Given the description of an element on the screen output the (x, y) to click on. 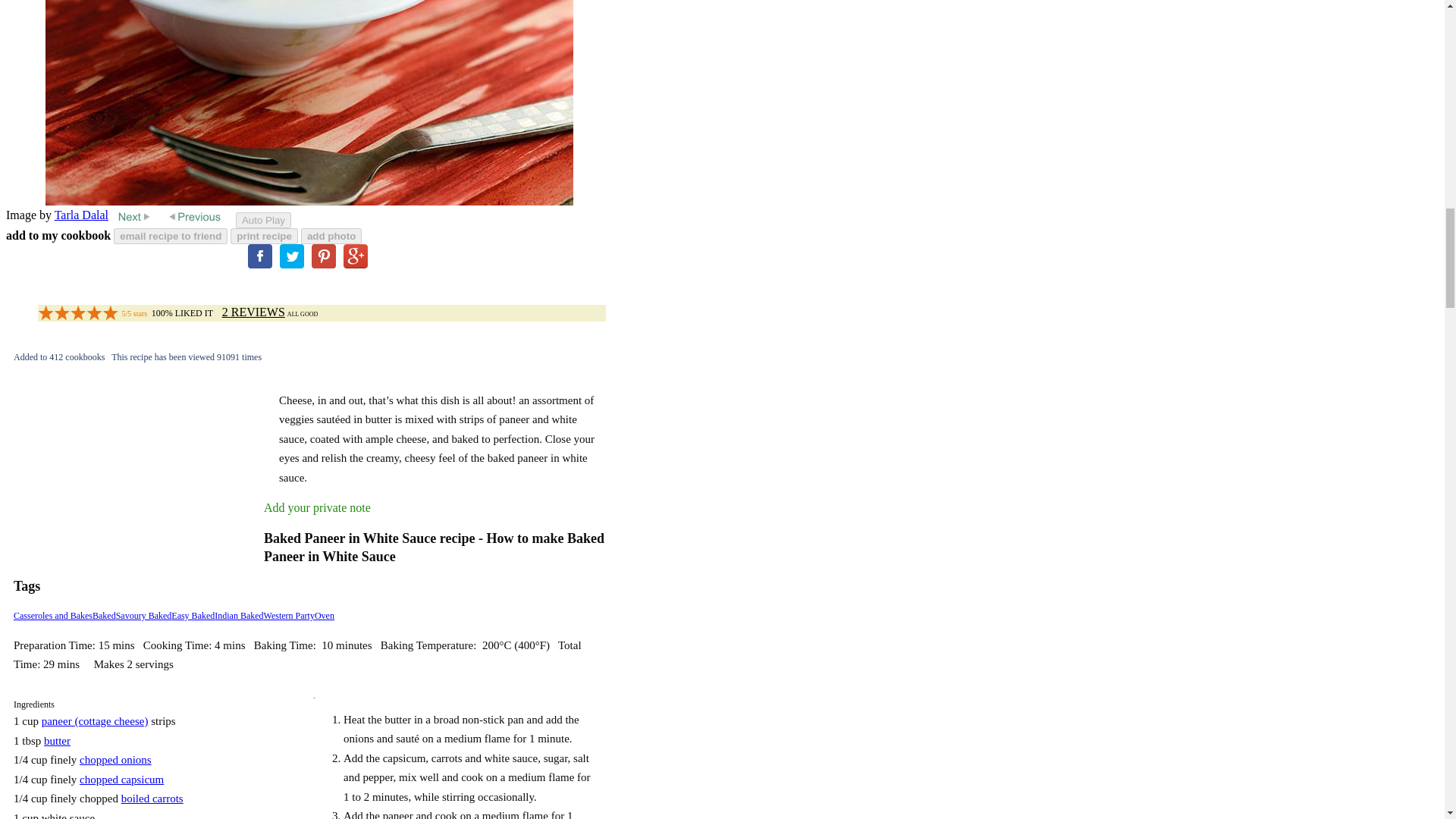
View counts since 26 Sep 2010 (187, 357)
print recipe (264, 236)
Auto Play (263, 220)
email recipe to friend (170, 236)
add photo (331, 236)
